Given the description of an element on the screen output the (x, y) to click on. 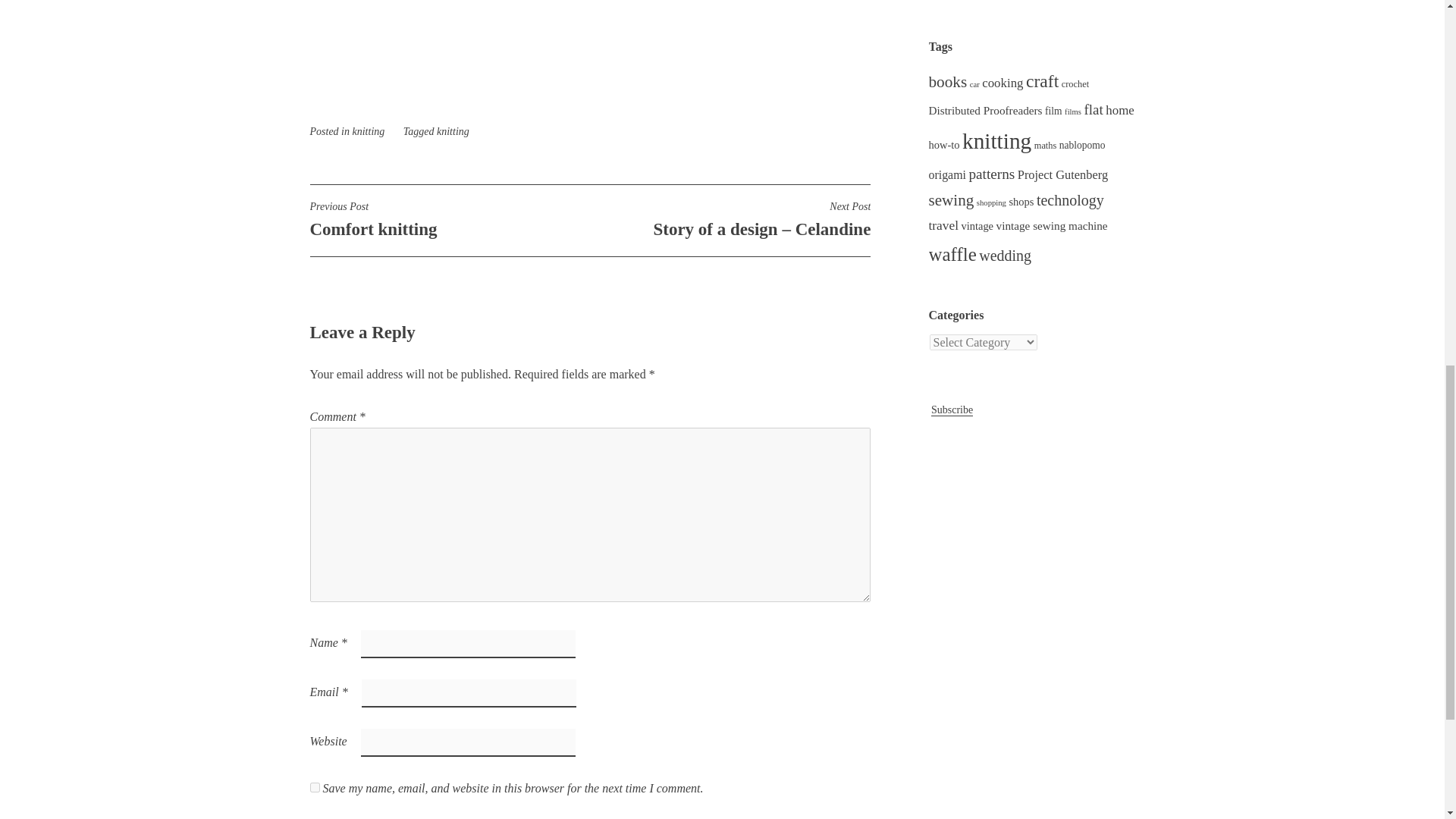
yes (313, 787)
knitting (452, 131)
knitting (448, 219)
